Given the description of an element on the screen output the (x, y) to click on. 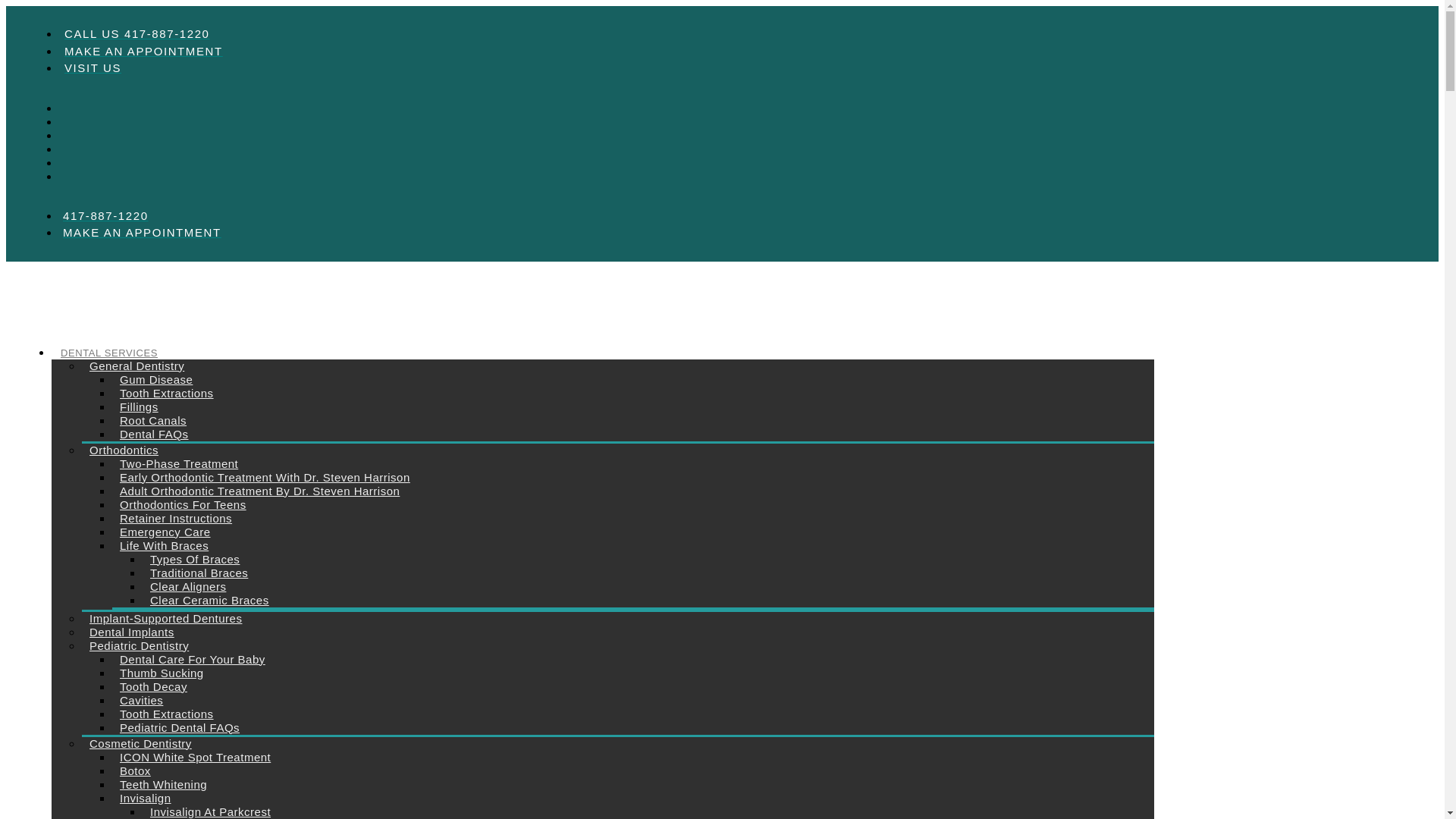
Early Orthodontic Treatment With Dr. Steven Harrison (264, 476)
Implant-Supported Dentures (164, 617)
Pediatric Dental FAQs (179, 726)
Clear Ceramic Braces (209, 599)
Tooth Decay (153, 685)
Thumb Sucking (161, 672)
Traditional Braces (199, 571)
Emergency Care (165, 530)
DENTAL SERVICES (108, 352)
Retainer Instructions (176, 517)
